Given the description of an element on the screen output the (x, y) to click on. 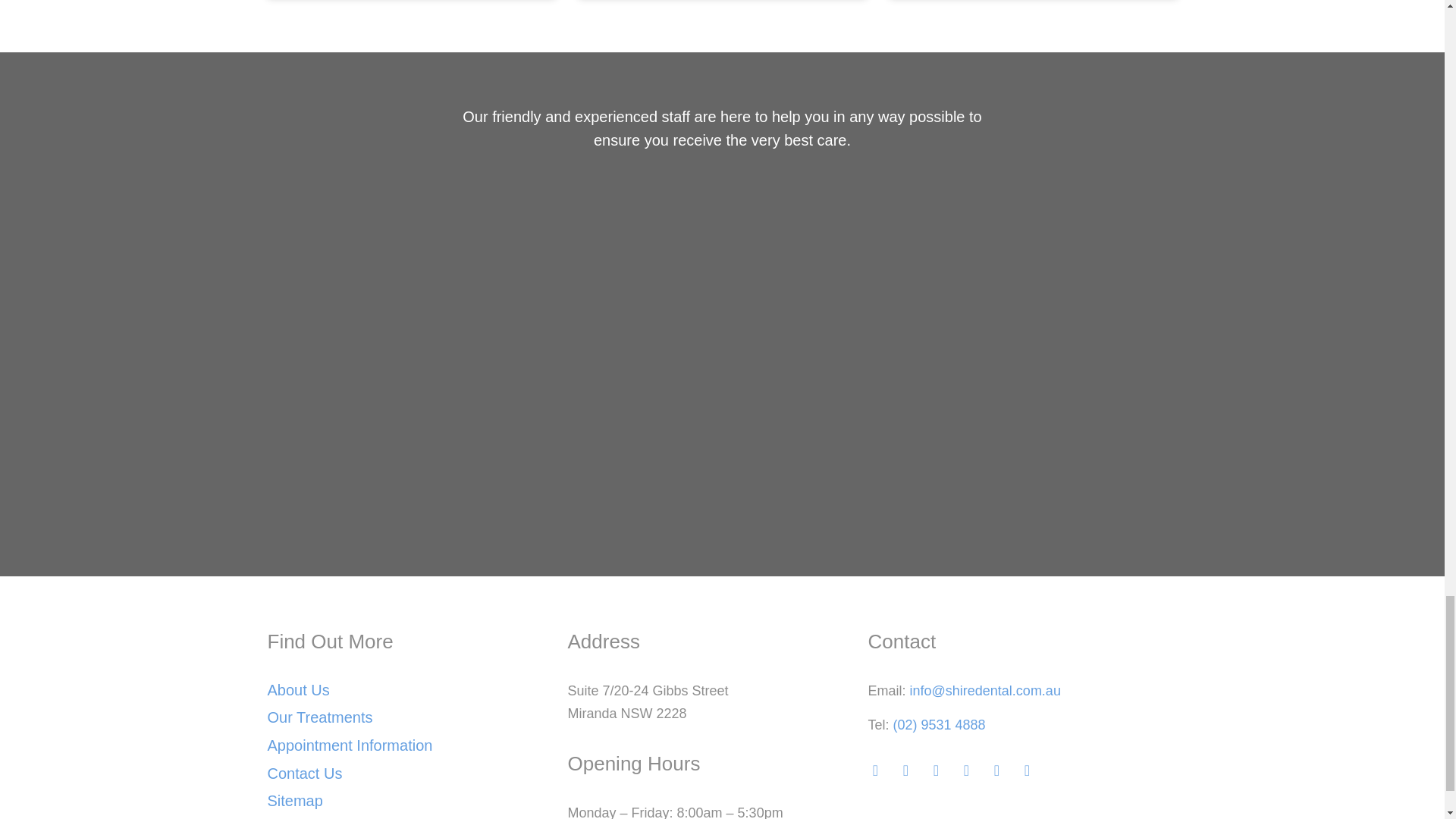
Sitemap (293, 800)
About Us (297, 689)
Appointment Information (349, 745)
Our Treatments (319, 717)
Contact Us (304, 773)
